Given the description of an element on the screen output the (x, y) to click on. 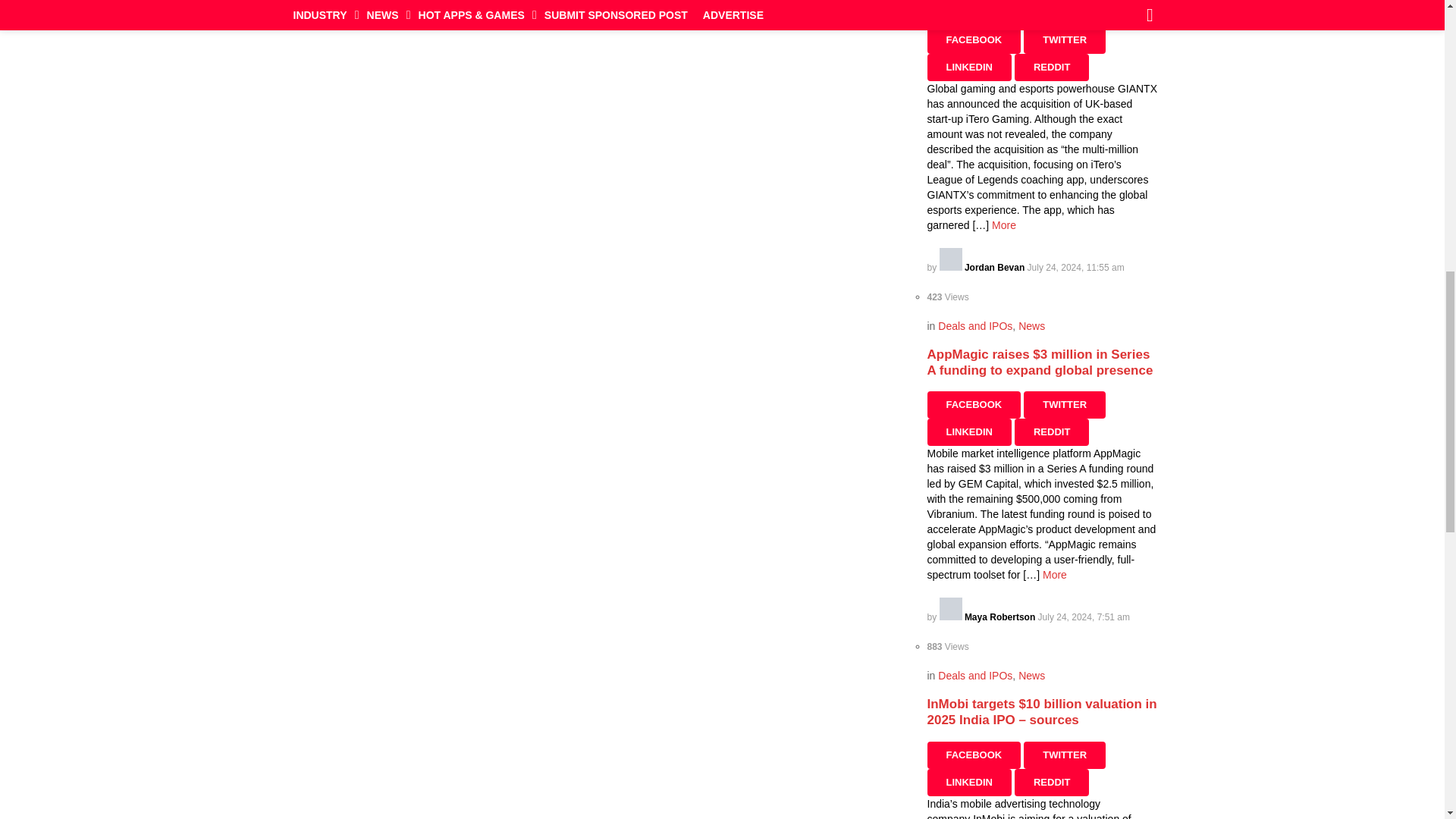
Posts by Maya Robertson (988, 616)
Posts by Jordan Bevan (983, 267)
